Given the description of an element on the screen output the (x, y) to click on. 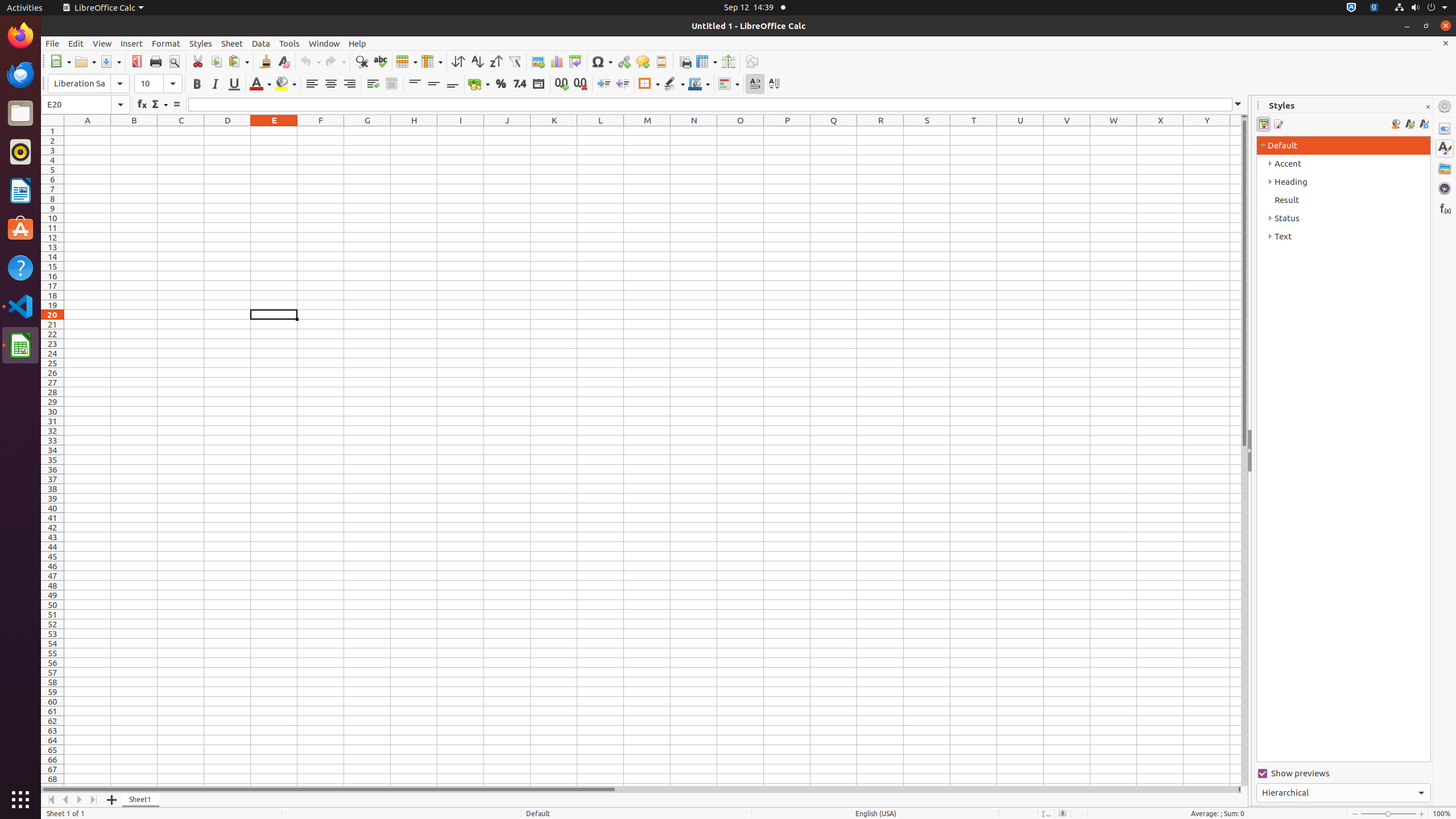
N1 Element type: table-cell (693, 130)
Center Vertically Element type: push-button (433, 83)
Cell Styles Element type: push-button (1263, 123)
K1 Element type: table-cell (553, 130)
A1 Element type: table-cell (87, 130)
